Given the description of an element on the screen output the (x, y) to click on. 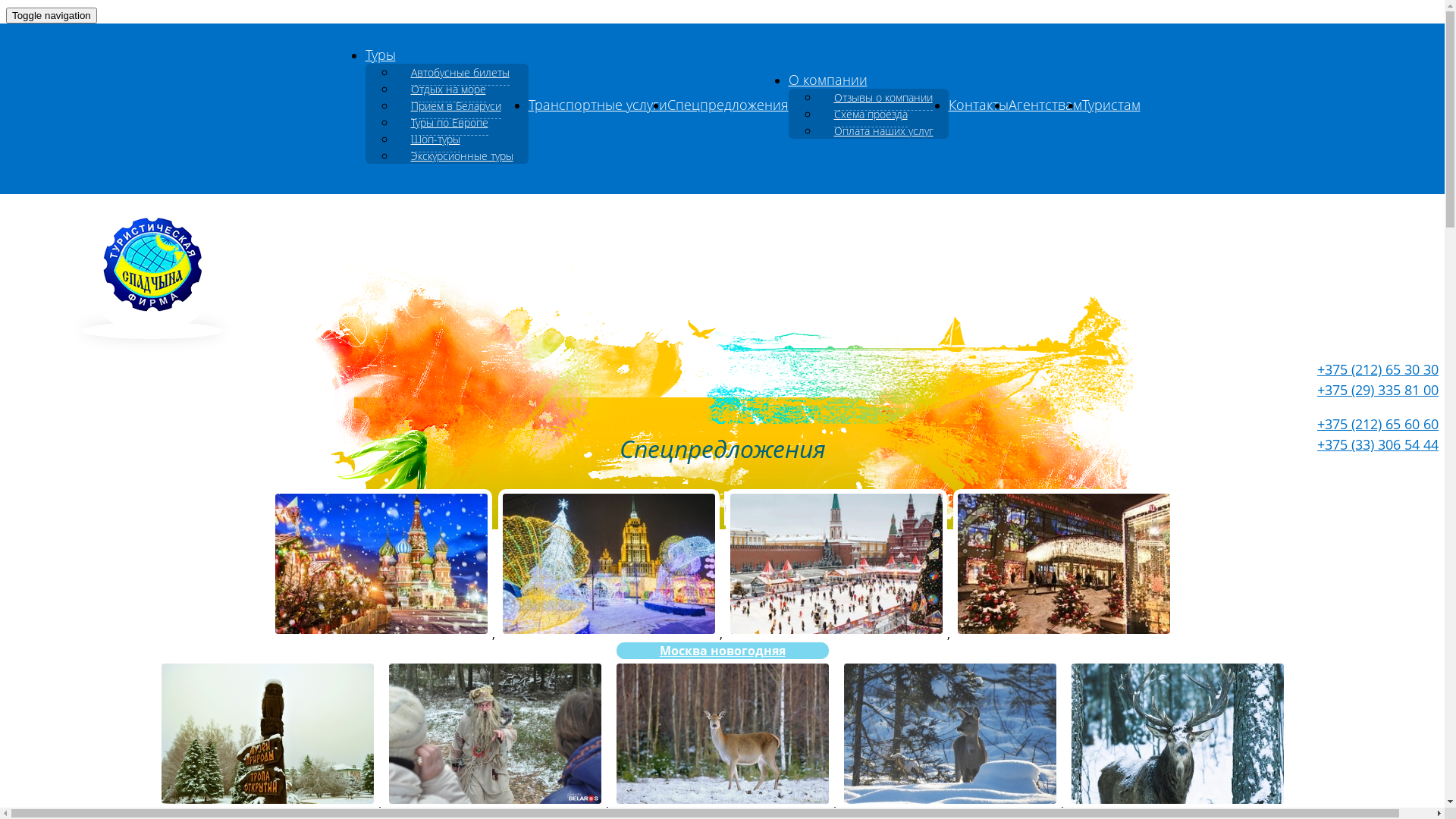
+375 (212) 65 60 60 Element type: text (1377, 423)
+375 (29) 335 81 00 Element type: text (1377, 389)
Toggle navigation Element type: text (51, 15)
+375 (212) 65 30 30 Element type: text (1377, 369)
+375 (33) 306 54 44 Element type: text (1377, 444)
